Given the description of an element on the screen output the (x, y) to click on. 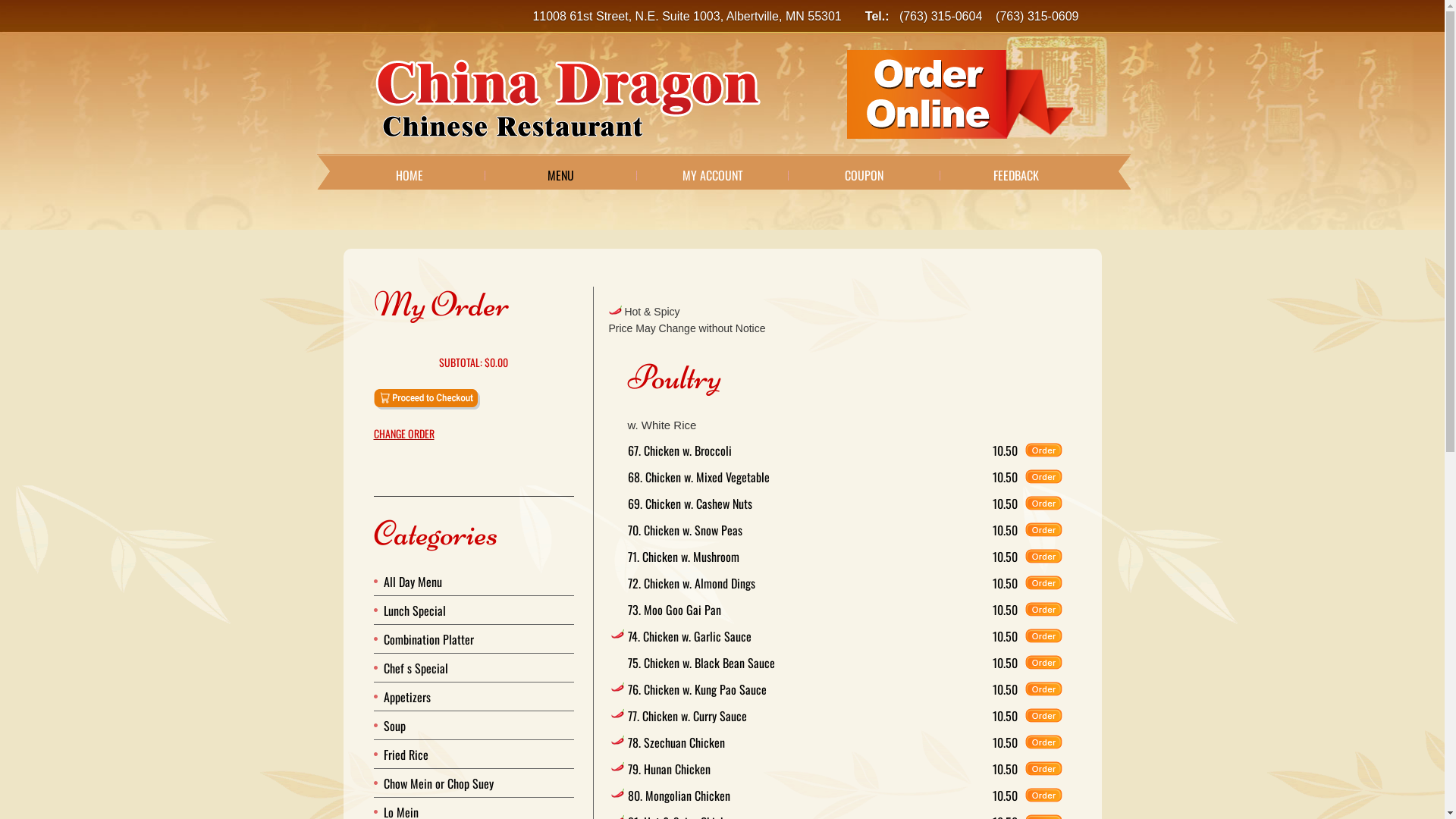
MY ACCOUNT Element type: text (712, 175)
Chow Mein or Chop Suey Element type: text (438, 783)
Appetizers Element type: text (406, 696)
HOME Element type: text (409, 175)
Fried Rice Element type: text (405, 754)
COUPON Element type: text (864, 175)
FEEDBACK Element type: text (1016, 175)
Soup Element type: text (394, 725)
Lunch Special Element type: text (414, 610)
Combination Platter Element type: text (428, 639)
CHANGE ORDER Element type: text (473, 433)
Chef s Special Element type: text (415, 667)
All Day Menu Element type: text (412, 581)
MENU Element type: text (561, 175)
